Given the description of an element on the screen output the (x, y) to click on. 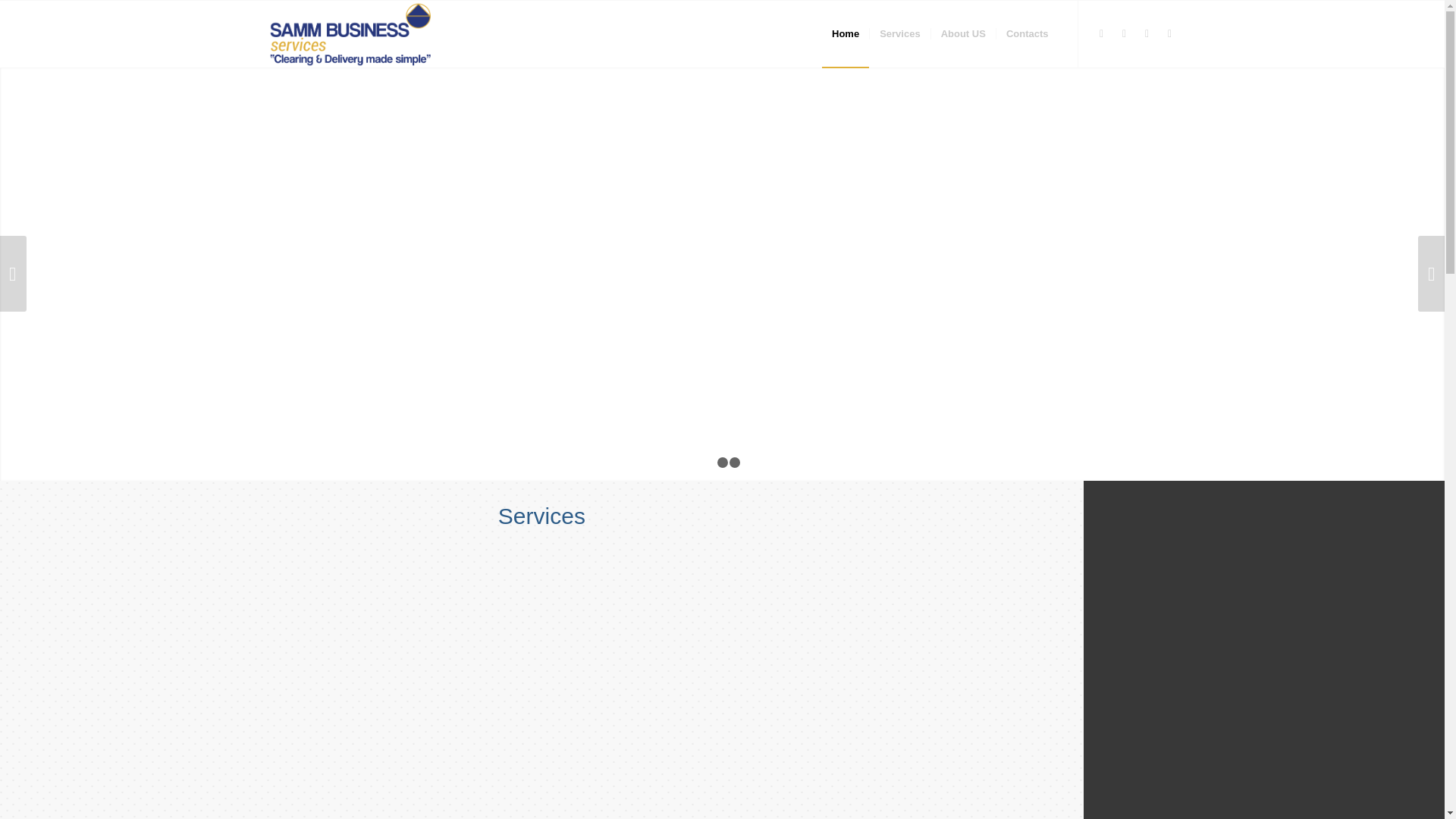
Services (899, 33)
Facebook (1124, 33)
Contacts (1026, 33)
About US (962, 33)
1 (710, 462)
3 (734, 462)
2 (722, 462)
WhatsApp (1169, 33)
LinkedIn (1101, 33)
Instagram (1146, 33)
